Given the description of an element on the screen output the (x, y) to click on. 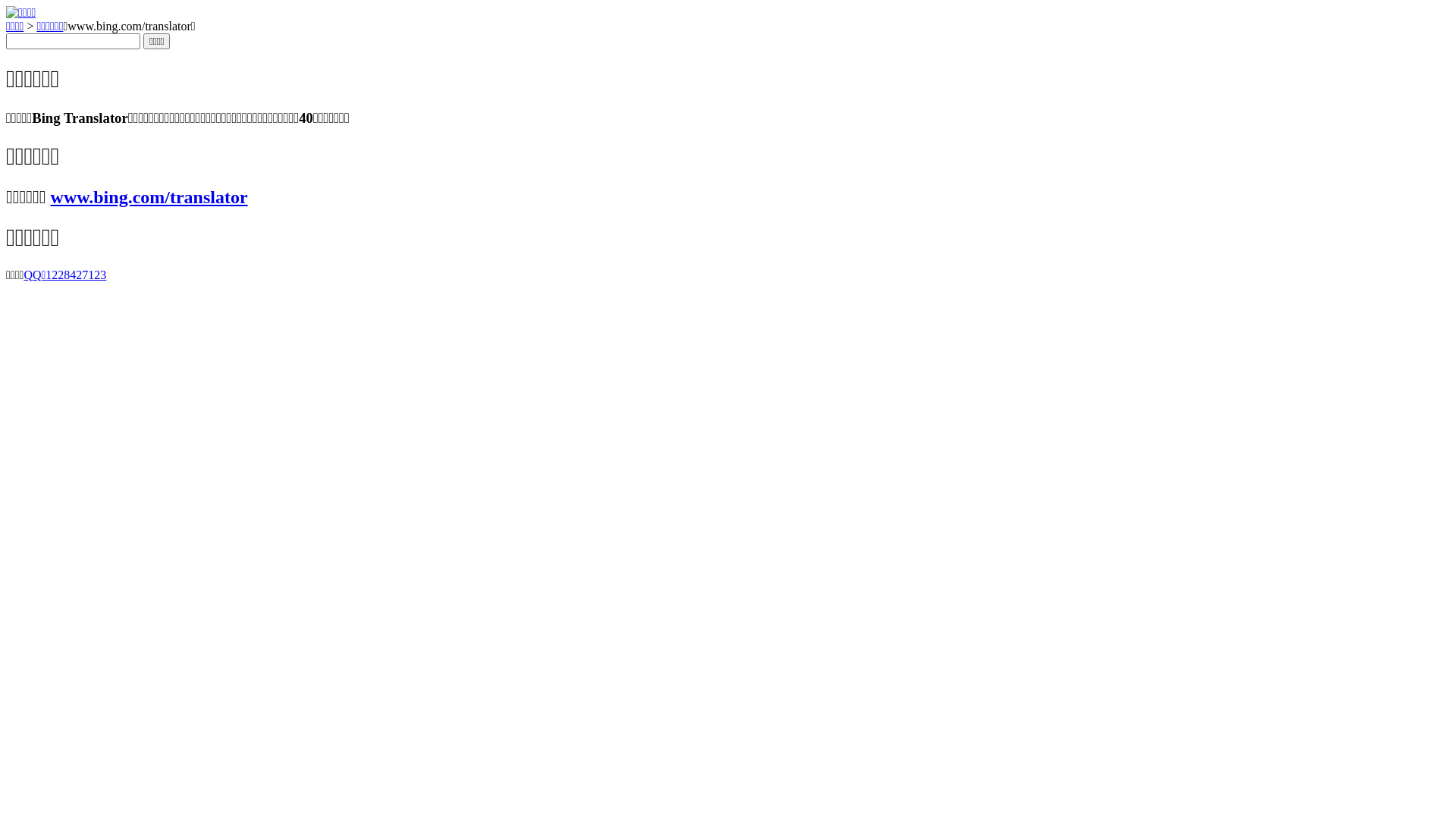
www.bing.com/translator Element type: text (148, 197)
